Given the description of an element on the screen output the (x, y) to click on. 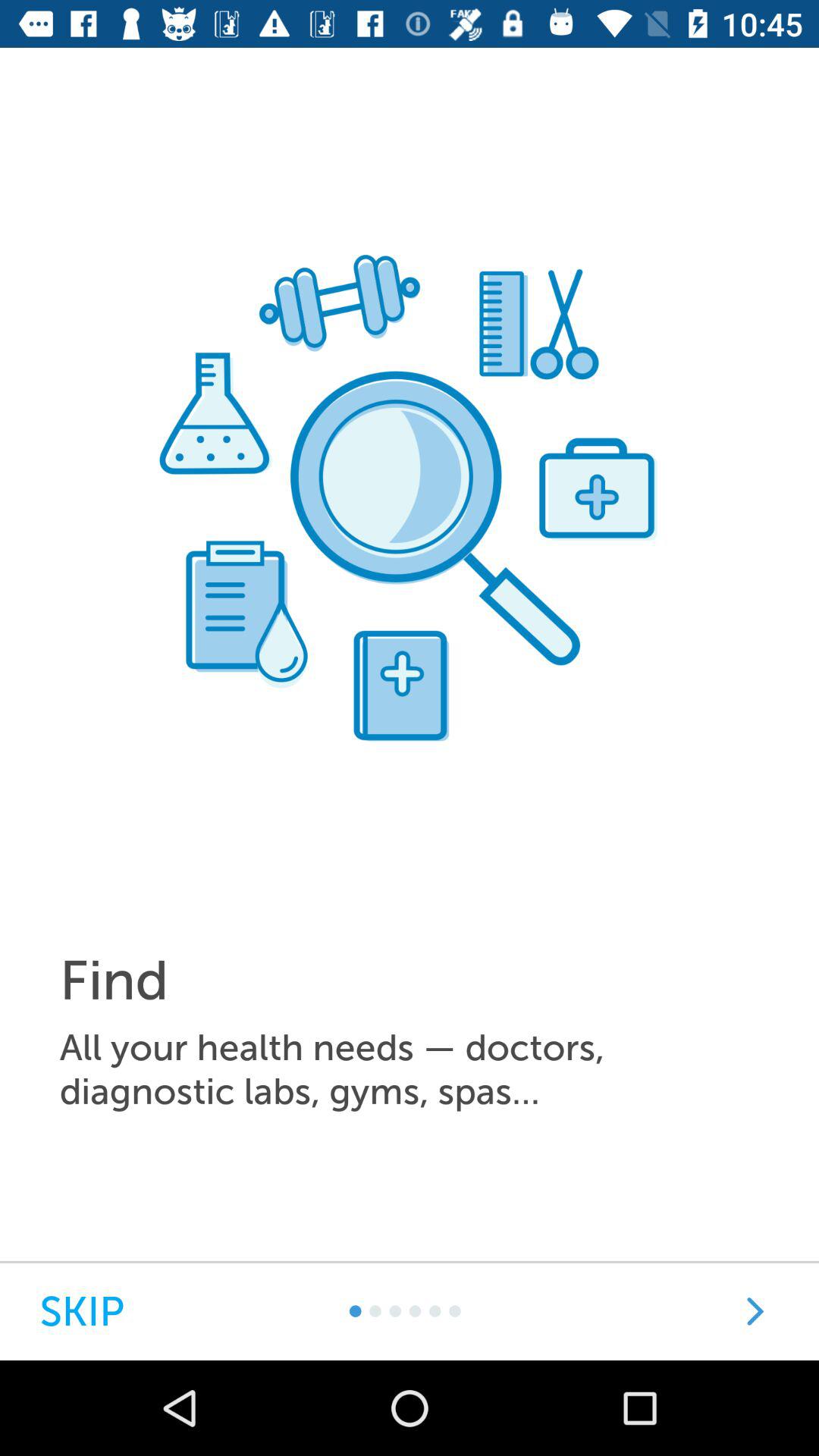
next page to start your search (755, 1311)
